Given the description of an element on the screen output the (x, y) to click on. 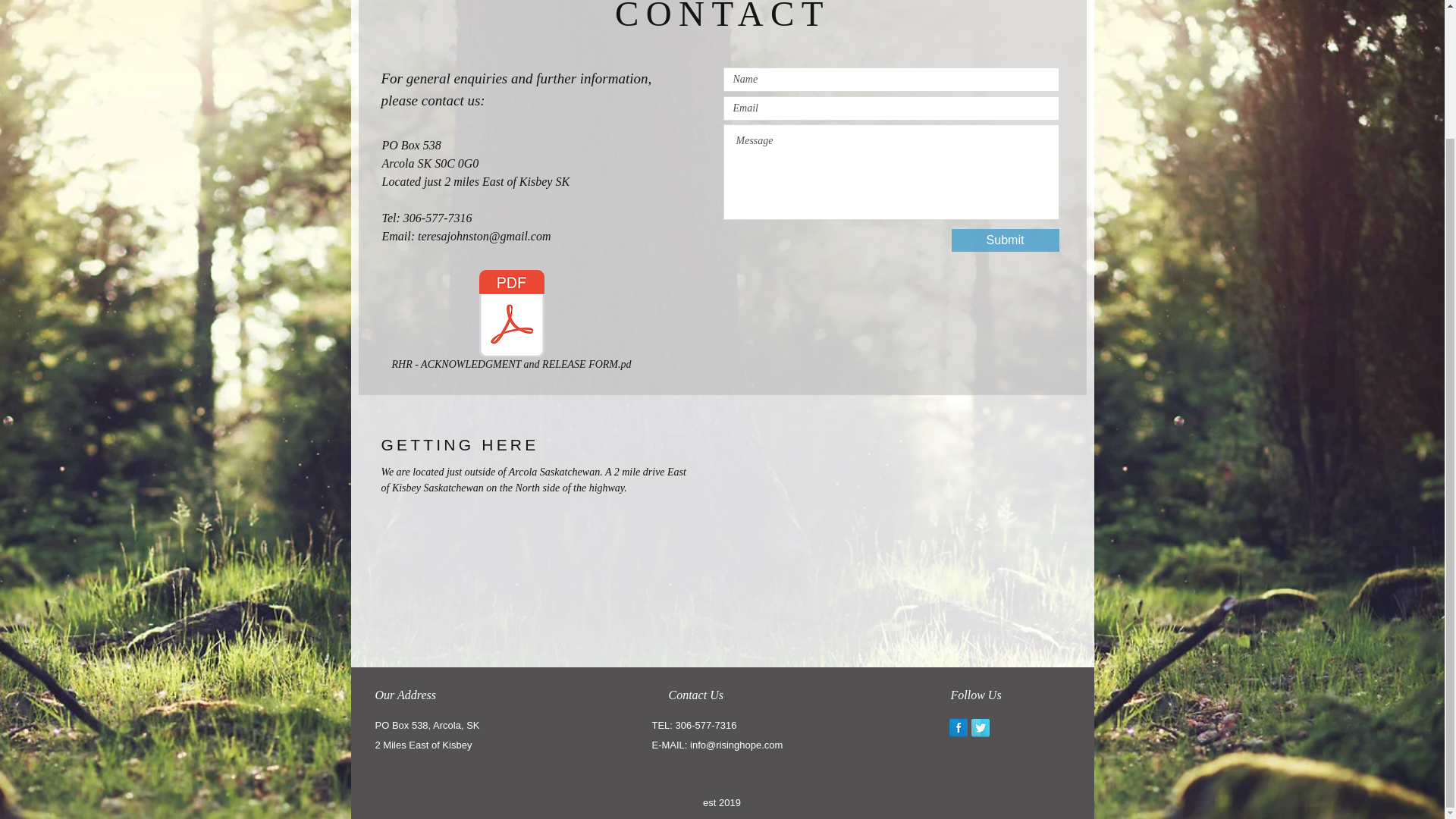
RHR - ACKNOWLEDGMENT and RELEASE FORM.pd (511, 322)
RHR - ACKNOWLEDGMENT and RELEASE FORM.pd (511, 322)
Submit (1004, 240)
